Given the description of an element on the screen output the (x, y) to click on. 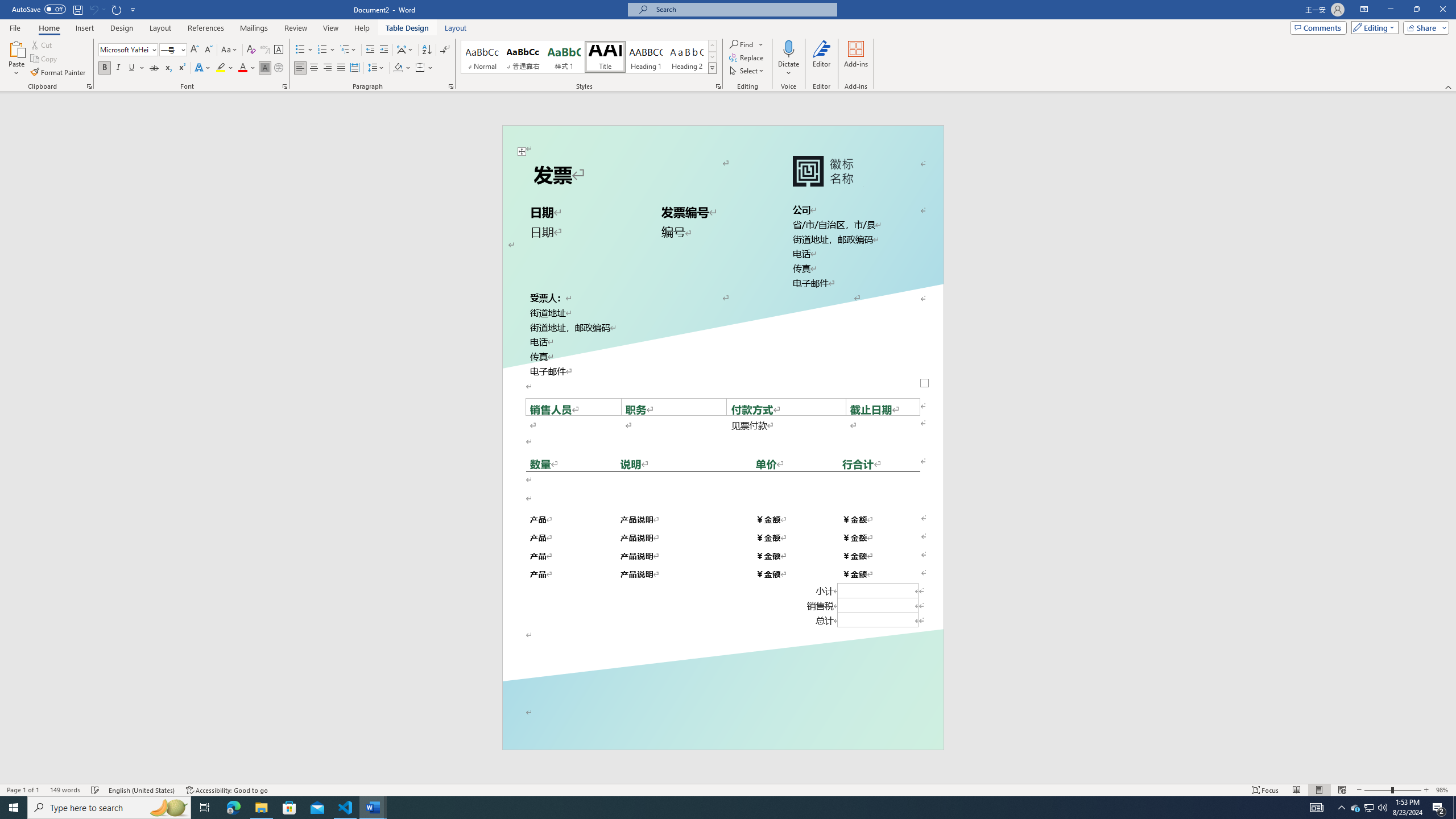
First Page Header -Section 1- (722, 140)
Page Number Page 1 of 1 (22, 790)
